Given the description of an element on the screen output the (x, y) to click on. 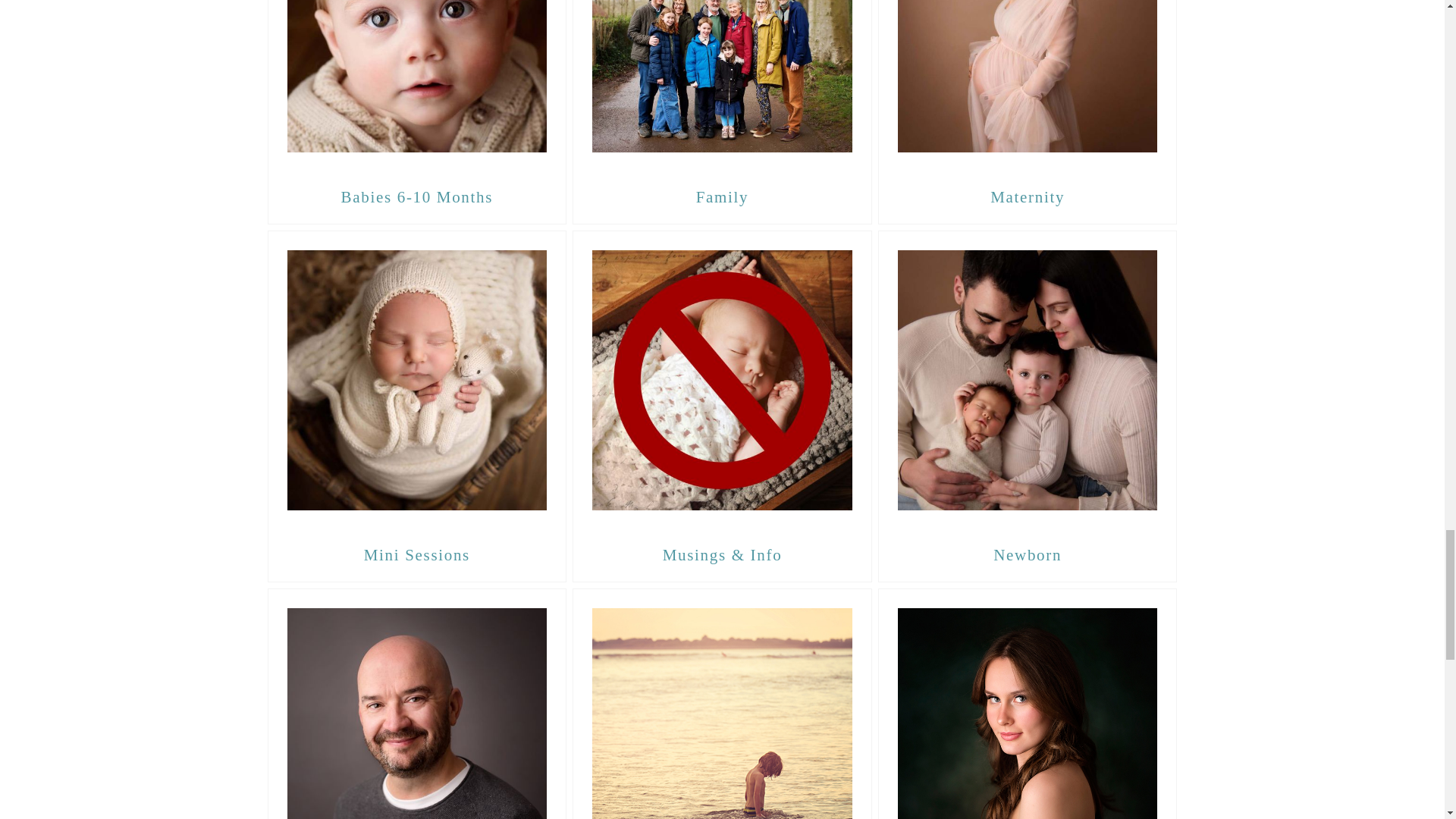
Maternity (1027, 85)
Newborn (1027, 379)
Maternity (1027, 197)
One Portrait (416, 703)
Newborn (1026, 555)
Mini Sessions (417, 555)
Project 52 - Mine (721, 703)
Family (722, 197)
Family (721, 85)
Babies 6-10 Months (416, 85)
Babies 6-10 Months (416, 197)
Mini Sessions (416, 379)
